Given the description of an element on the screen output the (x, y) to click on. 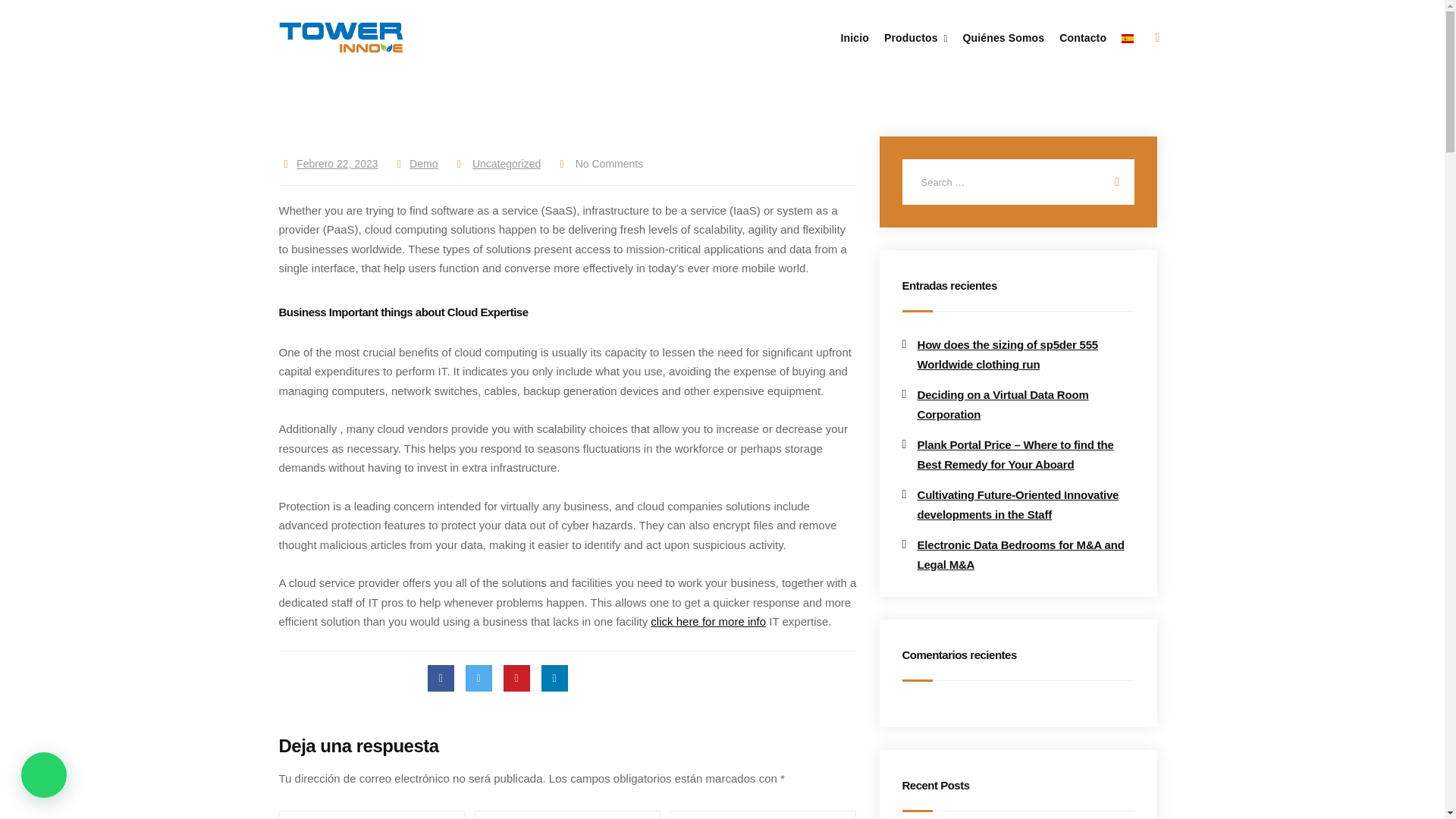
Tower Innove S.L (341, 37)
